Given the description of an element on the screen output the (x, y) to click on. 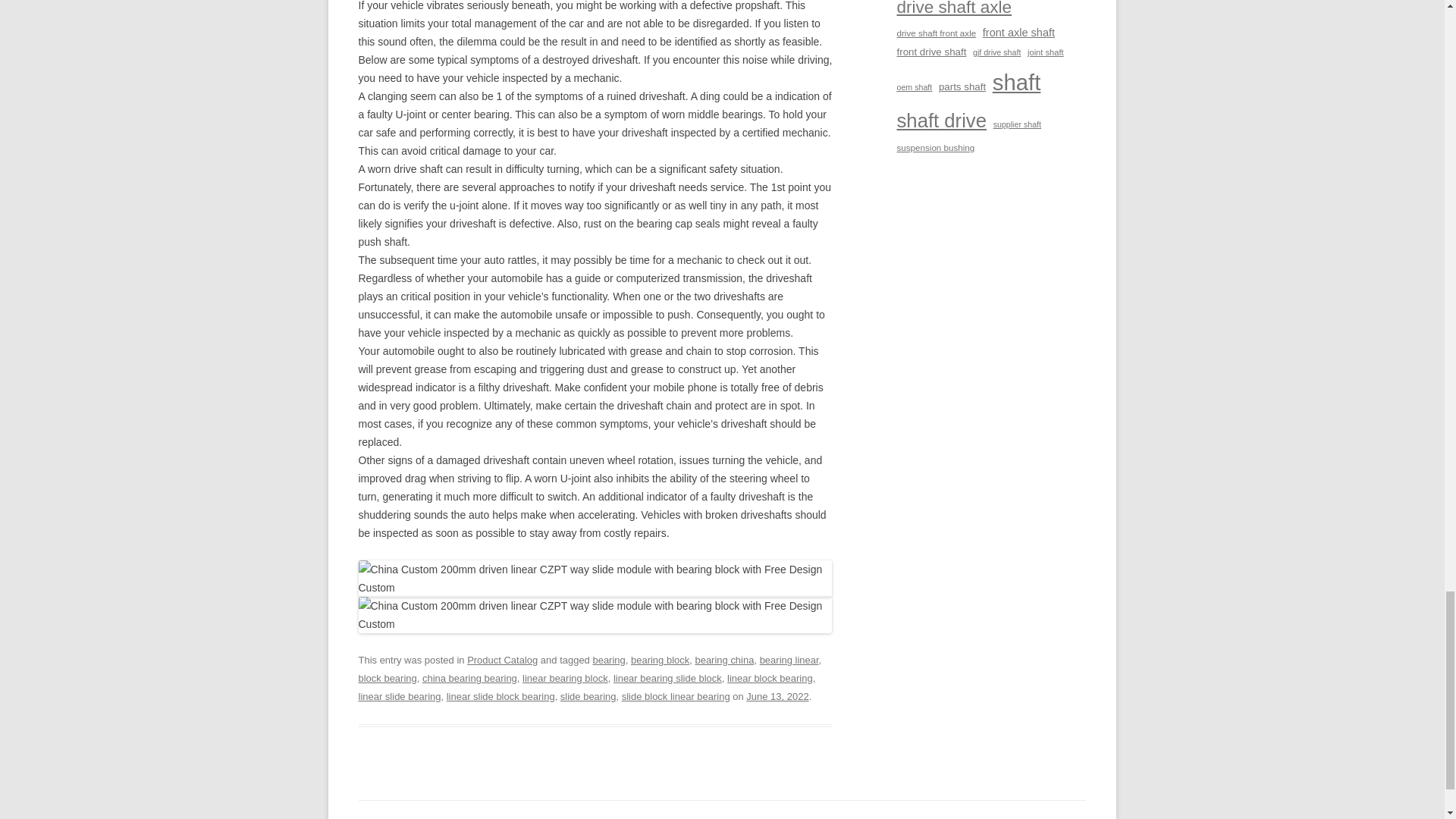
9:16 am (776, 696)
June 13, 2022 (776, 696)
bearing block (659, 659)
linear slide block bearing (500, 696)
bearing (608, 659)
slide bearing (587, 696)
block bearing (387, 677)
linear bearing slide block (667, 677)
bearing linear (789, 659)
linear bearing block (565, 677)
